Given the description of an element on the screen output the (x, y) to click on. 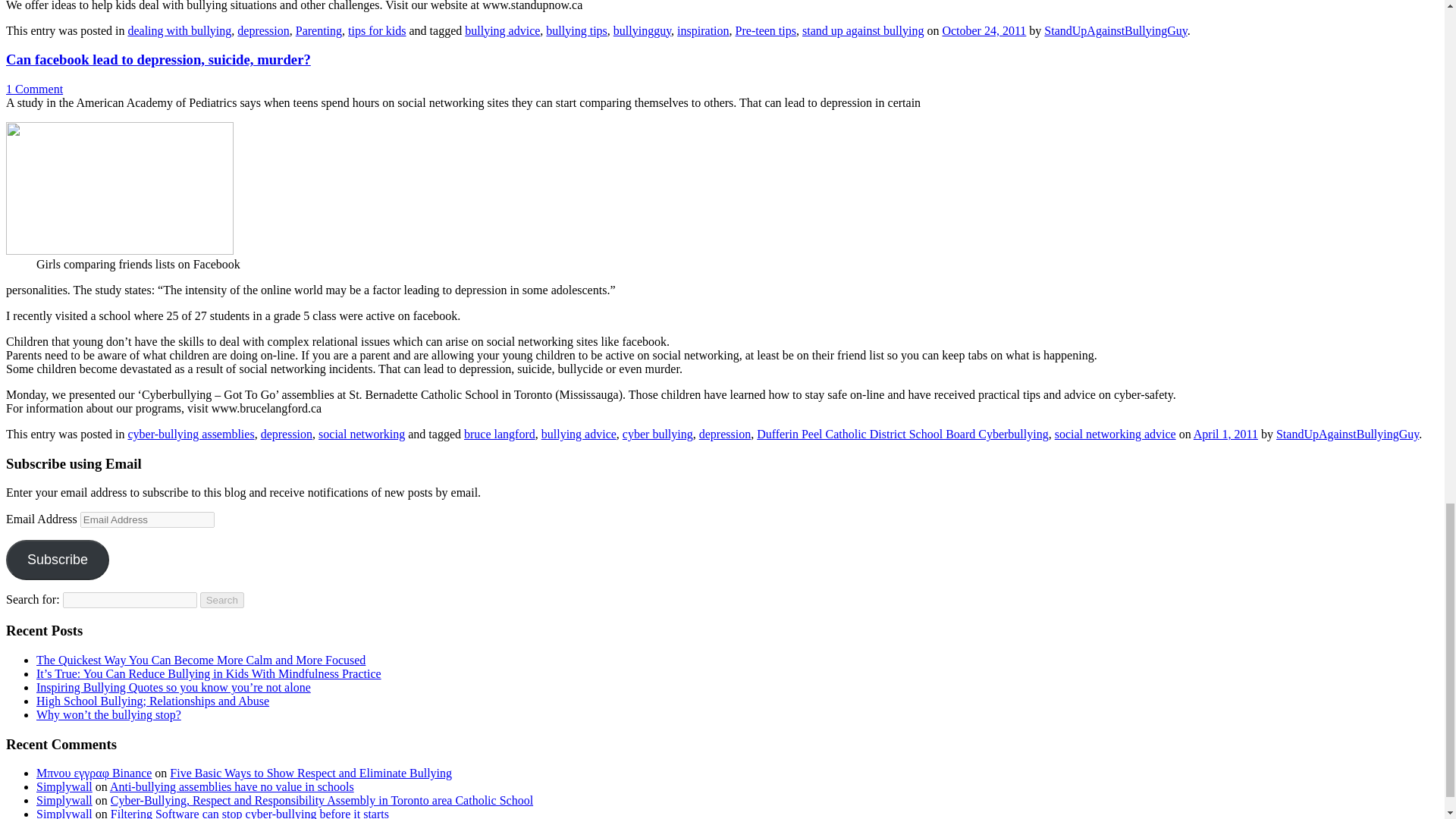
Search (222, 600)
View all posts by StandUpAgainstBullyingGuy (1114, 30)
View all posts by StandUpAgainstBullyingGuy (1347, 433)
sn4390 (118, 188)
7:55 am (984, 30)
6:42 am (1225, 433)
